Given the description of an element on the screen output the (x, y) to click on. 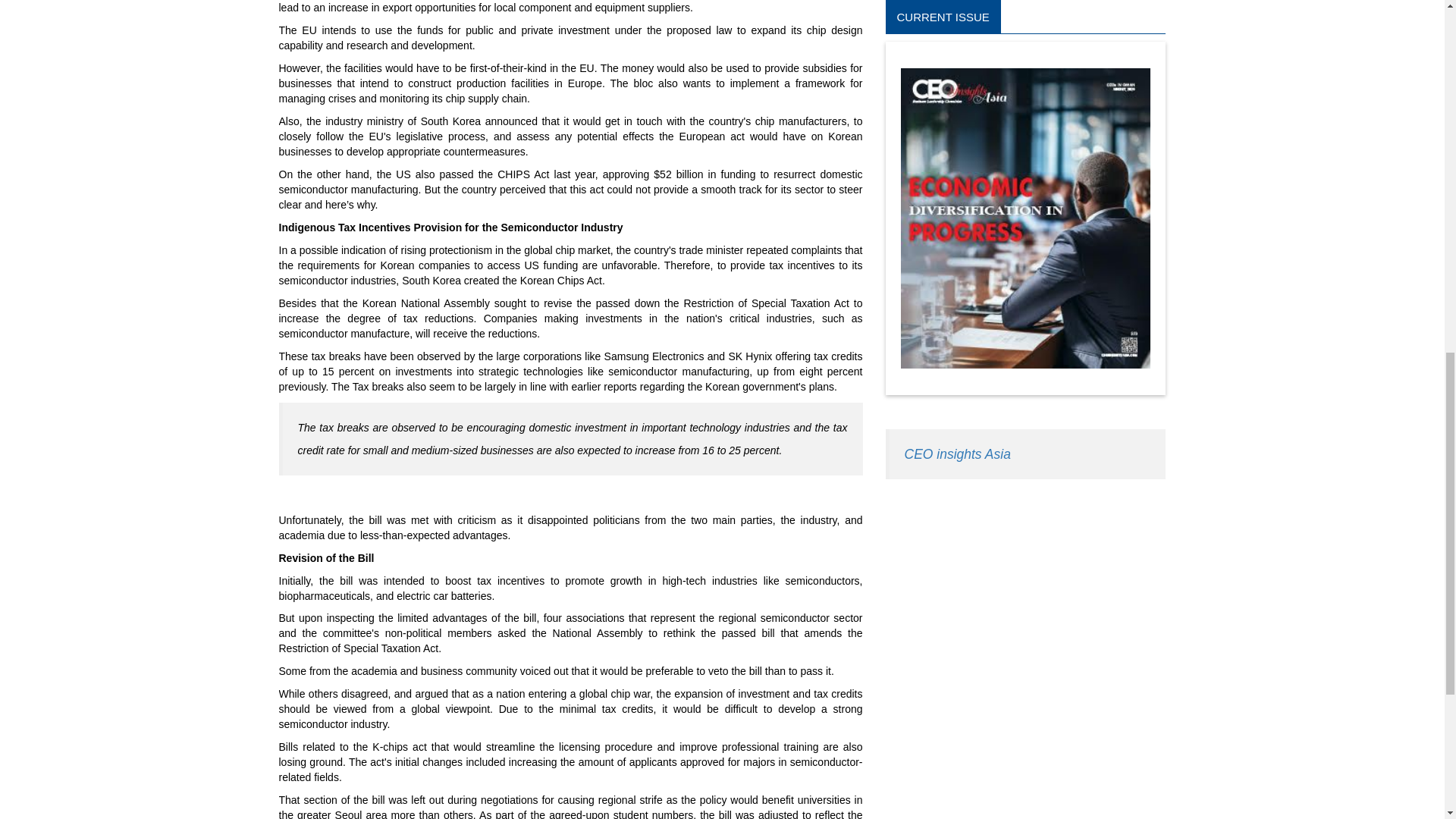
Advertisement (1025, 37)
